Given the description of an element on the screen output the (x, y) to click on. 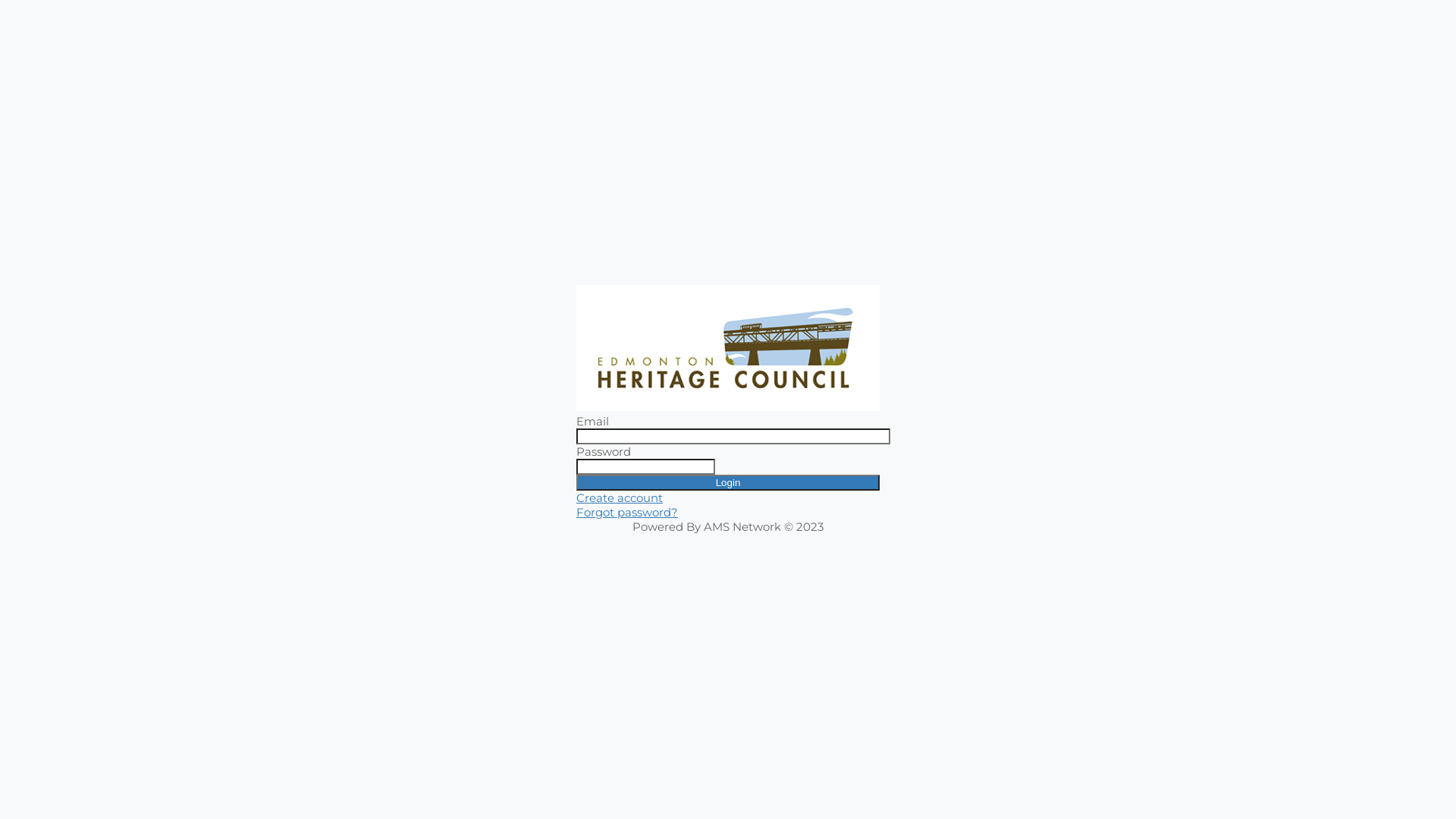
Create account Element type: text (619, 497)
Forgot password? Element type: text (626, 512)
Login Element type: text (727, 482)
